Given the description of an element on the screen output the (x, y) to click on. 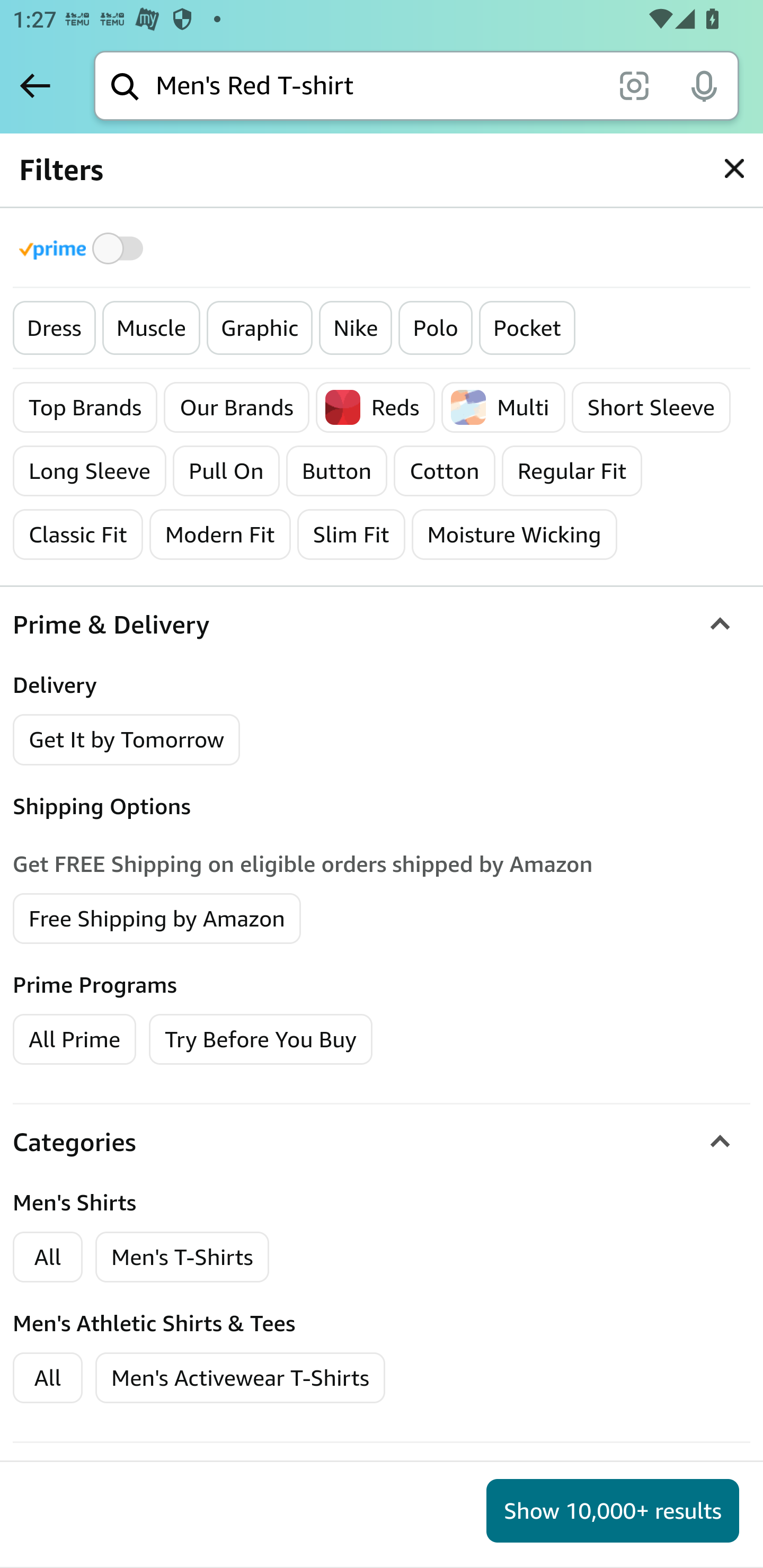
Back (35, 85)
scan it (633, 85)
Toggle to filter by Prime products Prime Eligible (83, 247)
Dress (54, 328)
Muscle (150, 328)
Graphic (258, 328)
Nike (355, 328)
Polo (435, 328)
Pocket (526, 328)
Top Brands (85, 407)
Our Brands (236, 407)
Reds Reds Reds Reds (374, 407)
Multi Multi Multi Multi (503, 407)
Short Sleeve (650, 407)
Long Sleeve (89, 471)
Pull On (225, 471)
Button (335, 471)
Cotton (443, 471)
Regular Fit (571, 471)
Classic Fit (77, 534)
Modern Fit (219, 534)
Slim Fit (350, 534)
Moisture Wicking (514, 534)
Prime & Delivery (381, 625)
Get It by Tomorrow (126, 739)
Shop the Store (225, 906)
All Prime (74, 1038)
Try Before You Buy (260, 1038)
Categories (381, 1141)
All (47, 1256)
Men's T-Shirts (182, 1256)
All (47, 1377)
Men's Activewear T-Shirts (240, 1377)
Show 10,000+ results (612, 1510)
